Given the description of an element on the screen output the (x, y) to click on. 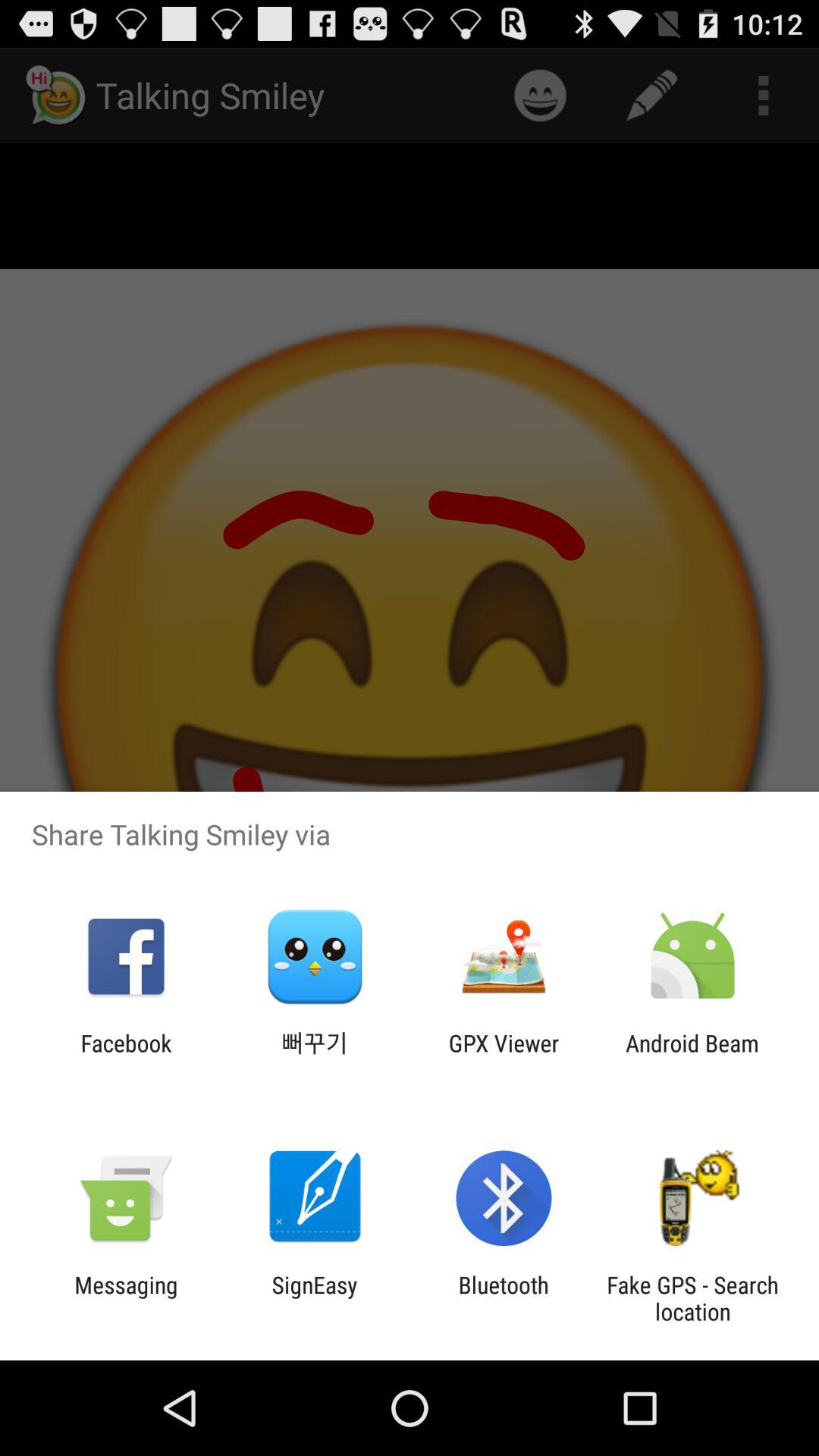
select the app to the left of gpx viewer app (314, 1056)
